Given the description of an element on the screen output the (x, y) to click on. 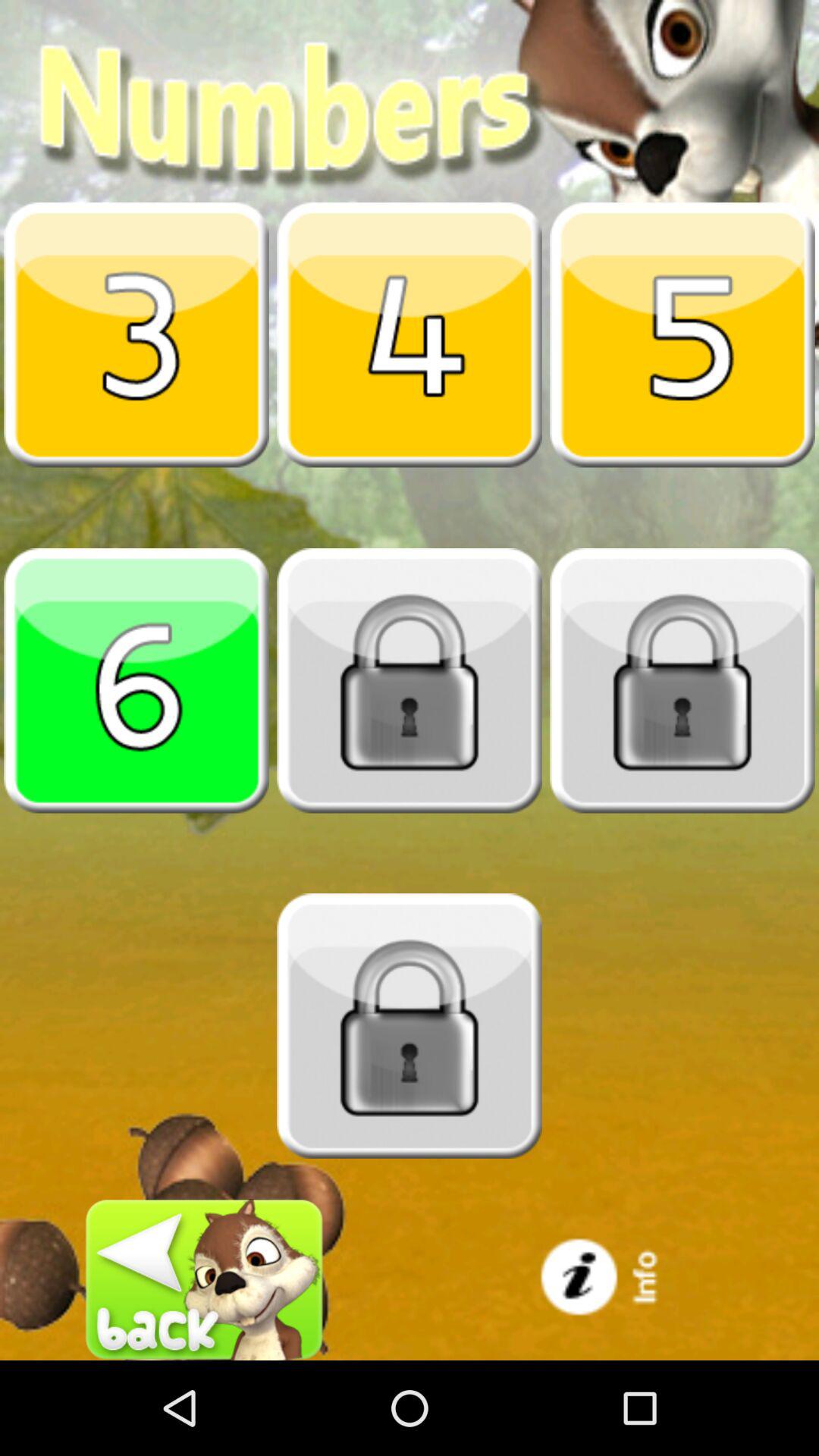
back (204, 1279)
